Given the description of an element on the screen output the (x, y) to click on. 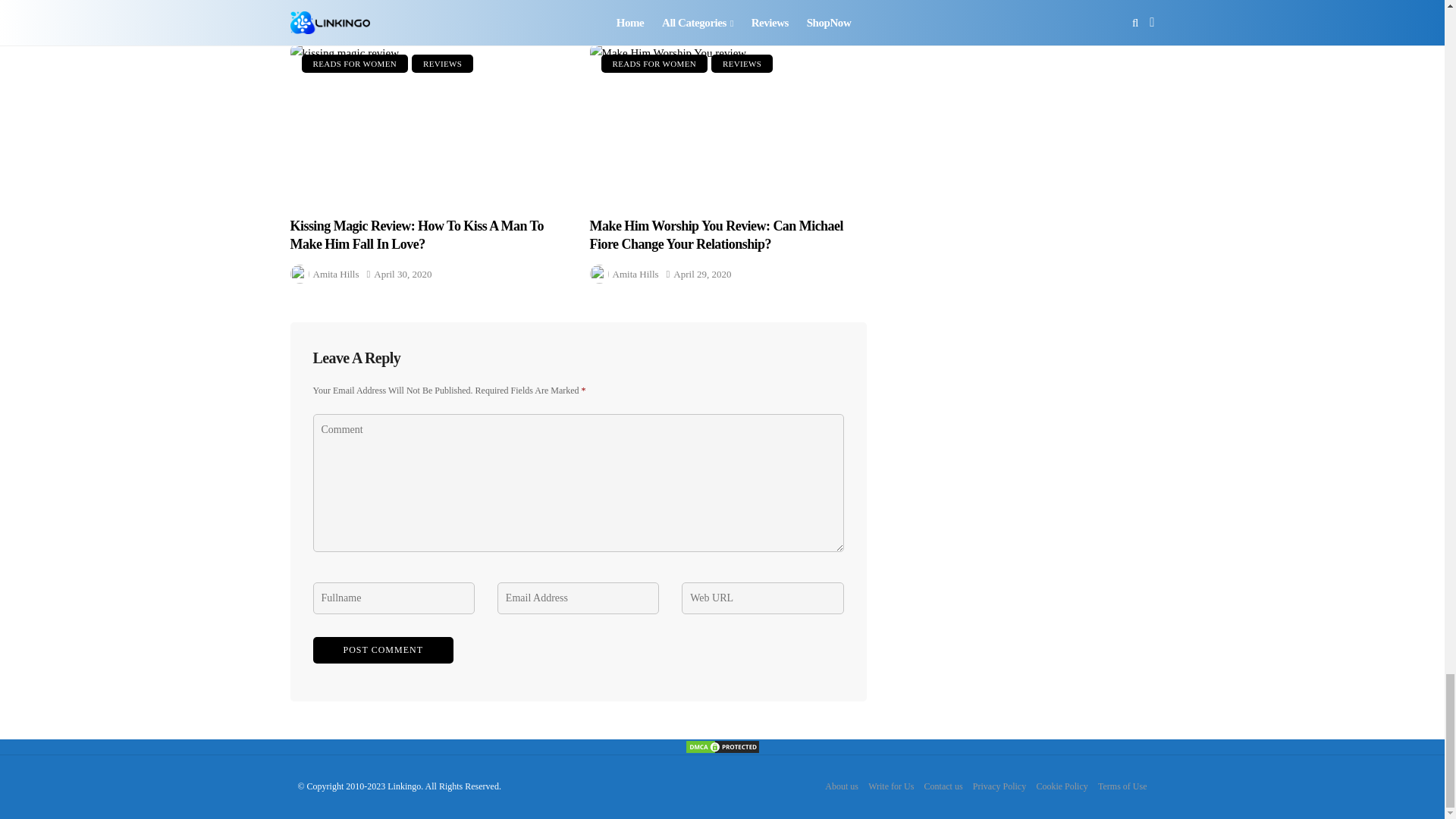
Posts by Amita Hills (335, 273)
Post Comment (382, 650)
Posts by Amita Hills (635, 9)
Posts by Amita Hills (335, 9)
